Given the description of an element on the screen output the (x, y) to click on. 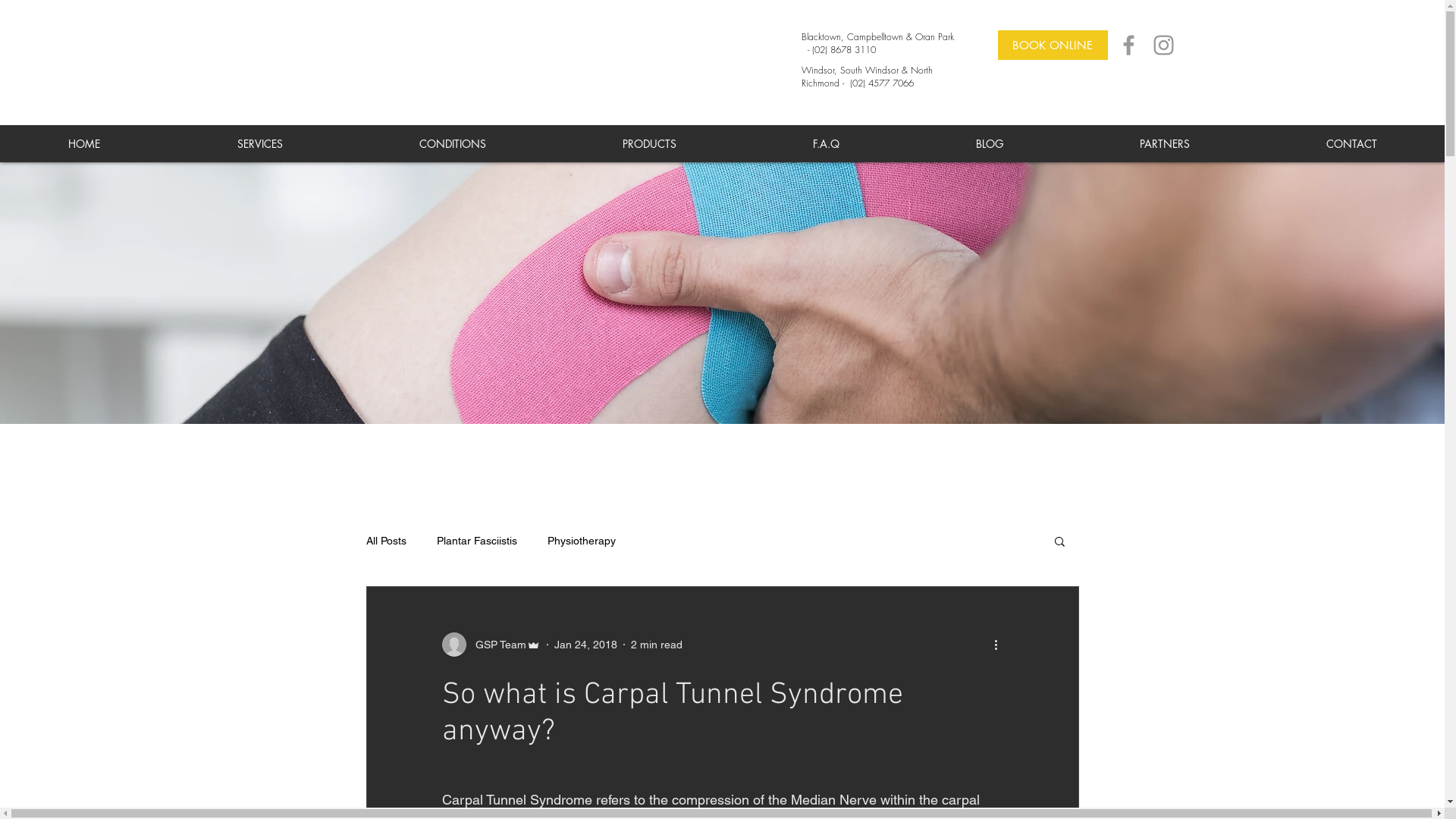
PRODUCTS Element type: text (648, 143)
Plantar Fasciistis Element type: text (476, 540)
All Posts Element type: text (385, 540)
F.A.Q Element type: text (824, 143)
BLOG Element type: text (988, 143)
BOOK ONLINE Element type: text (1051, 44)
CONTACT Element type: text (1350, 143)
(02) 4577 7066 Element type: text (881, 82)
CONDITIONS Element type: text (451, 143)
HOME Element type: text (84, 143)
Physiotherapy Element type: text (581, 540)
(02) 8678 3110 Element type: text (843, 49)
SERVICES Element type: text (259, 143)
PARTNERS Element type: text (1163, 143)
